Given the description of an element on the screen output the (x, y) to click on. 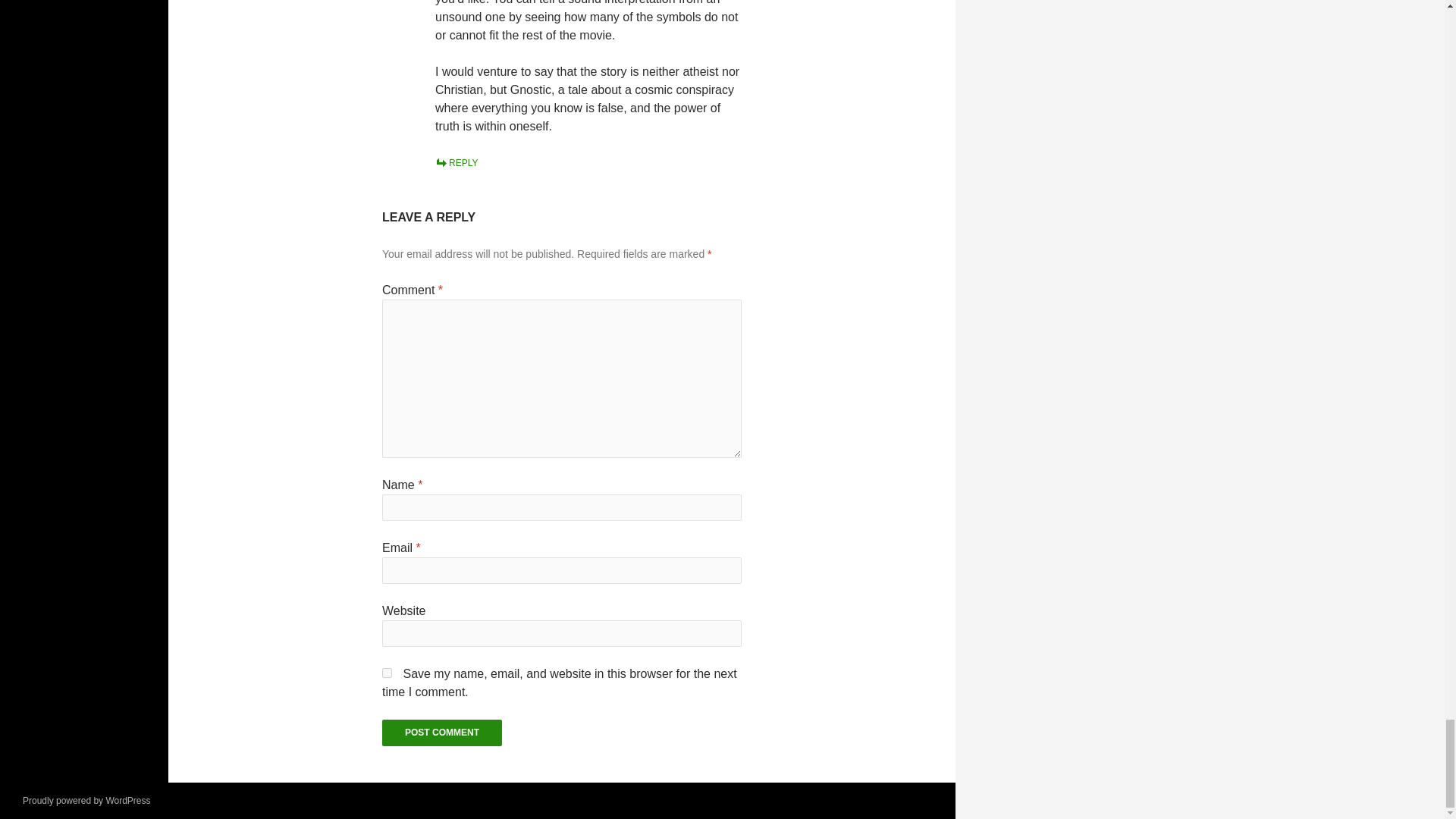
Post Comment (441, 732)
yes (386, 673)
